Given the description of an element on the screen output the (x, y) to click on. 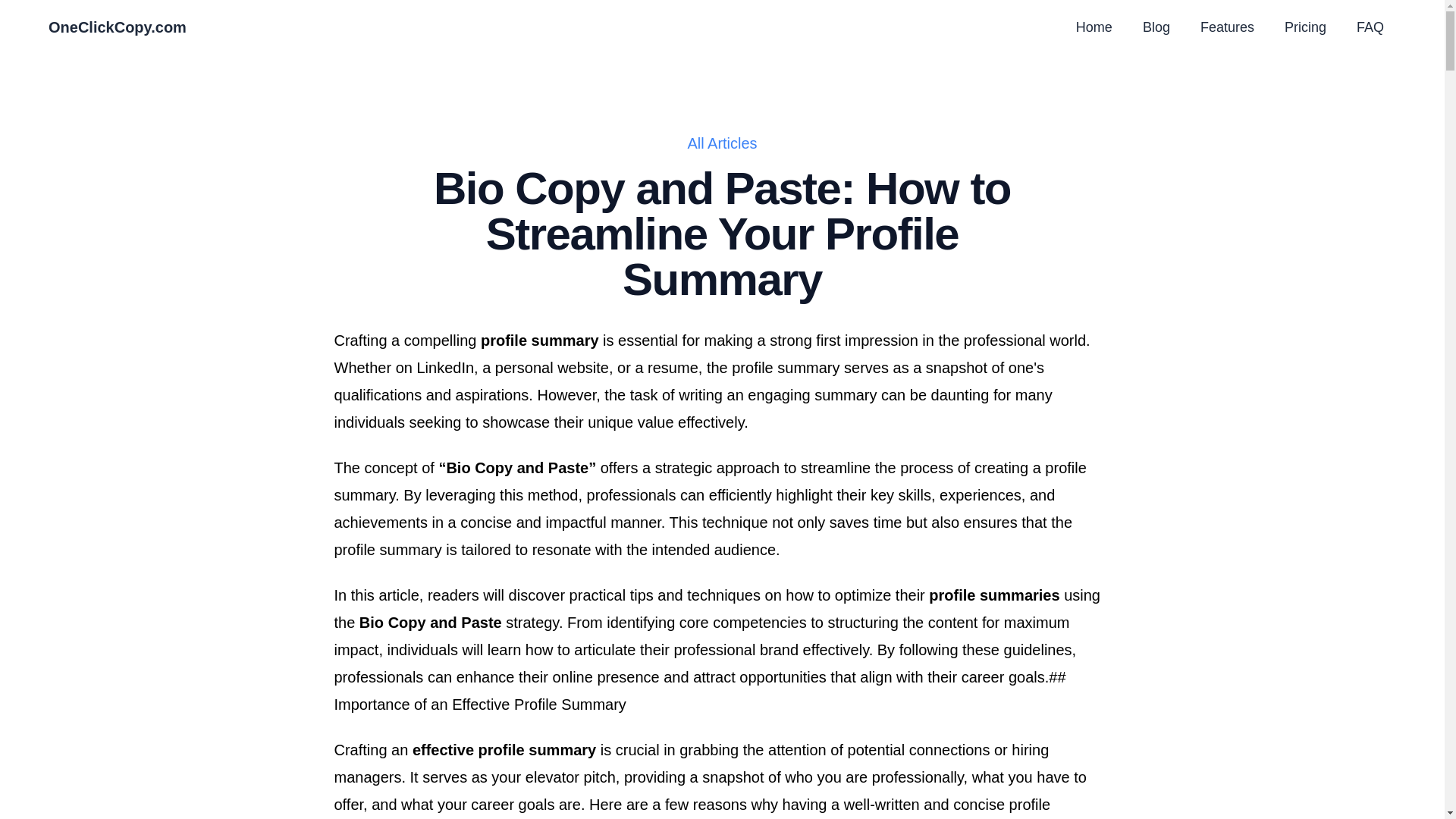
Home (1094, 27)
All Articles (722, 142)
Features (1227, 27)
Pricing (1305, 27)
Blog (1156, 27)
FAQ (1369, 27)
OneClickCopy.com (117, 26)
